Given the description of an element on the screen output the (x, y) to click on. 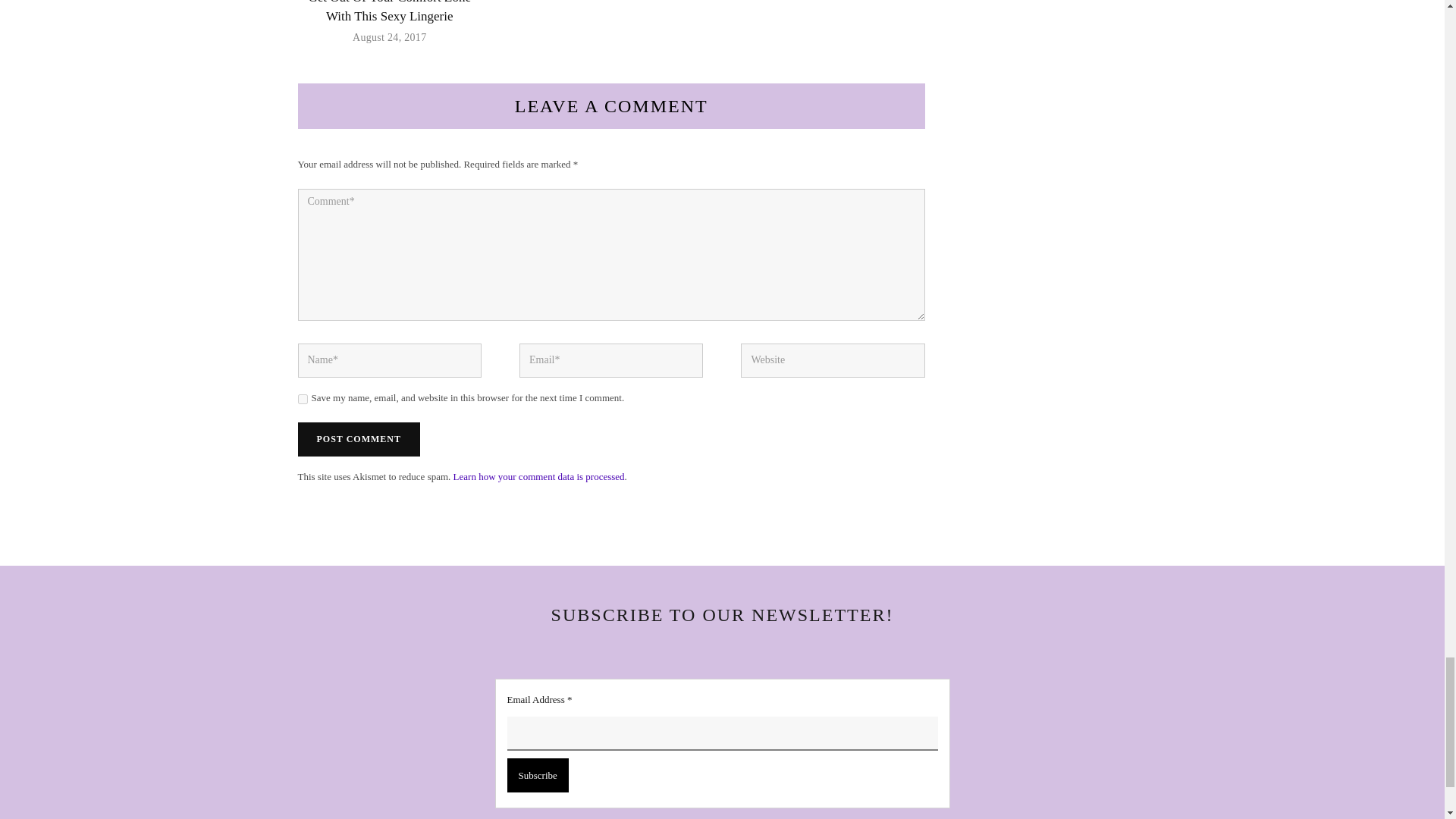
yes (302, 398)
Post Comment (358, 439)
